Given the description of an element on the screen output the (x, y) to click on. 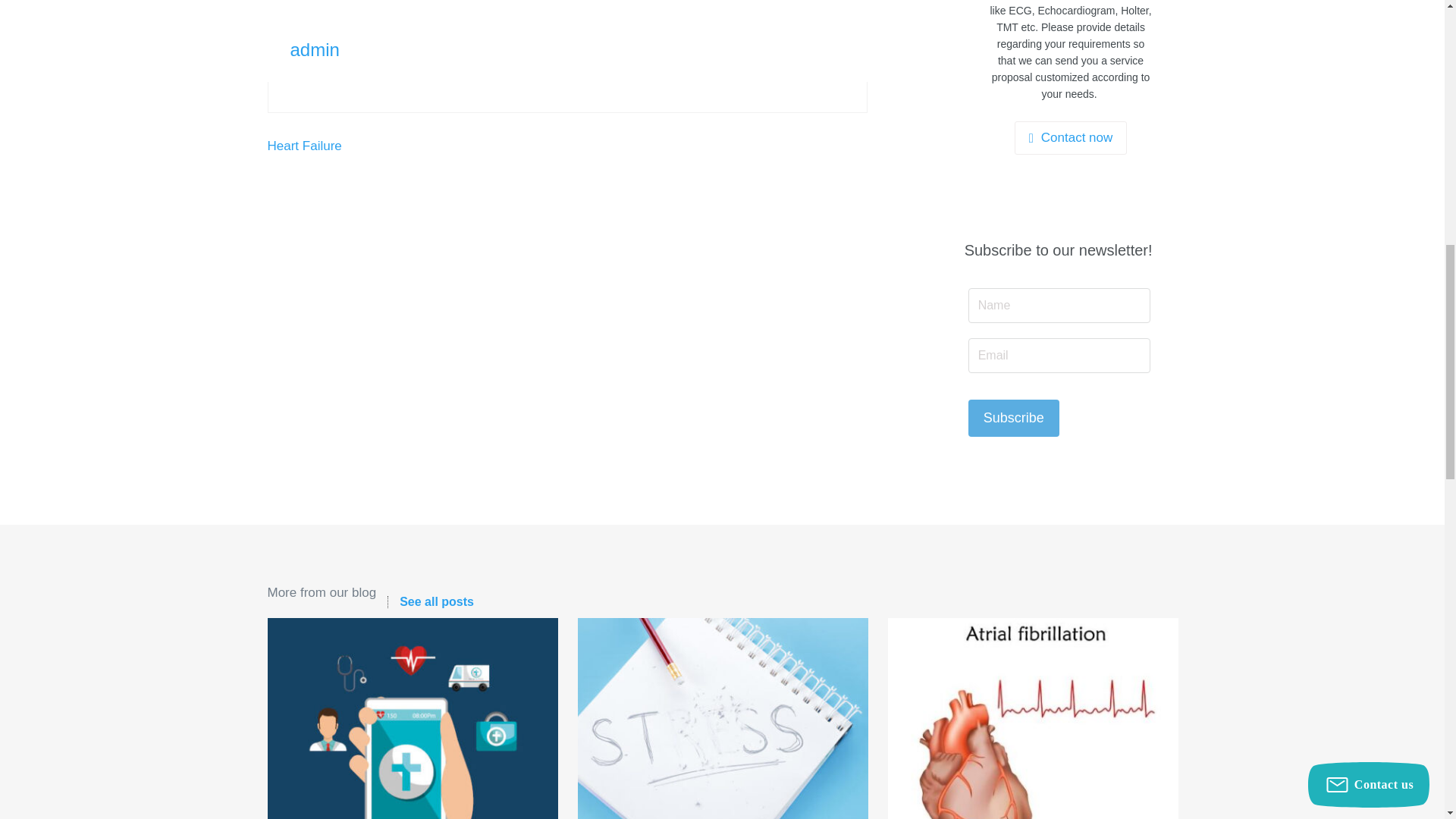
Subscribe (1013, 417)
atrial-fibrillation (1031, 718)
telecardiology (411, 718)
